Given the description of an element on the screen output the (x, y) to click on. 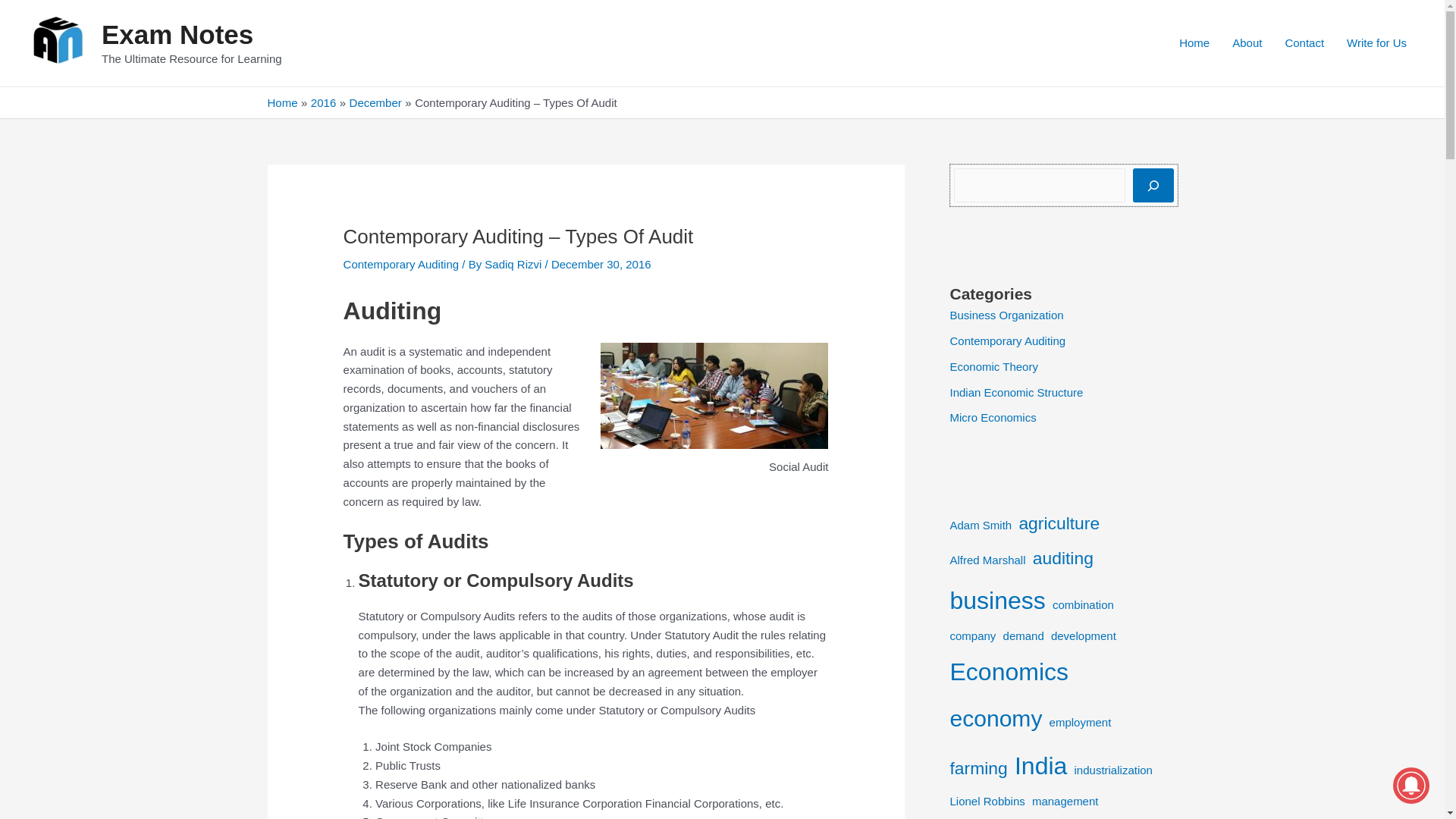
Sadiq Rizvi (514, 264)
Indian Economic Structure (1016, 391)
Contact (1303, 42)
December (375, 102)
Home (281, 102)
Home (1194, 42)
About (1246, 42)
Economic Theory (992, 366)
Contemporary Auditing (401, 264)
Write for Us (1376, 42)
